Given the description of an element on the screen output the (x, y) to click on. 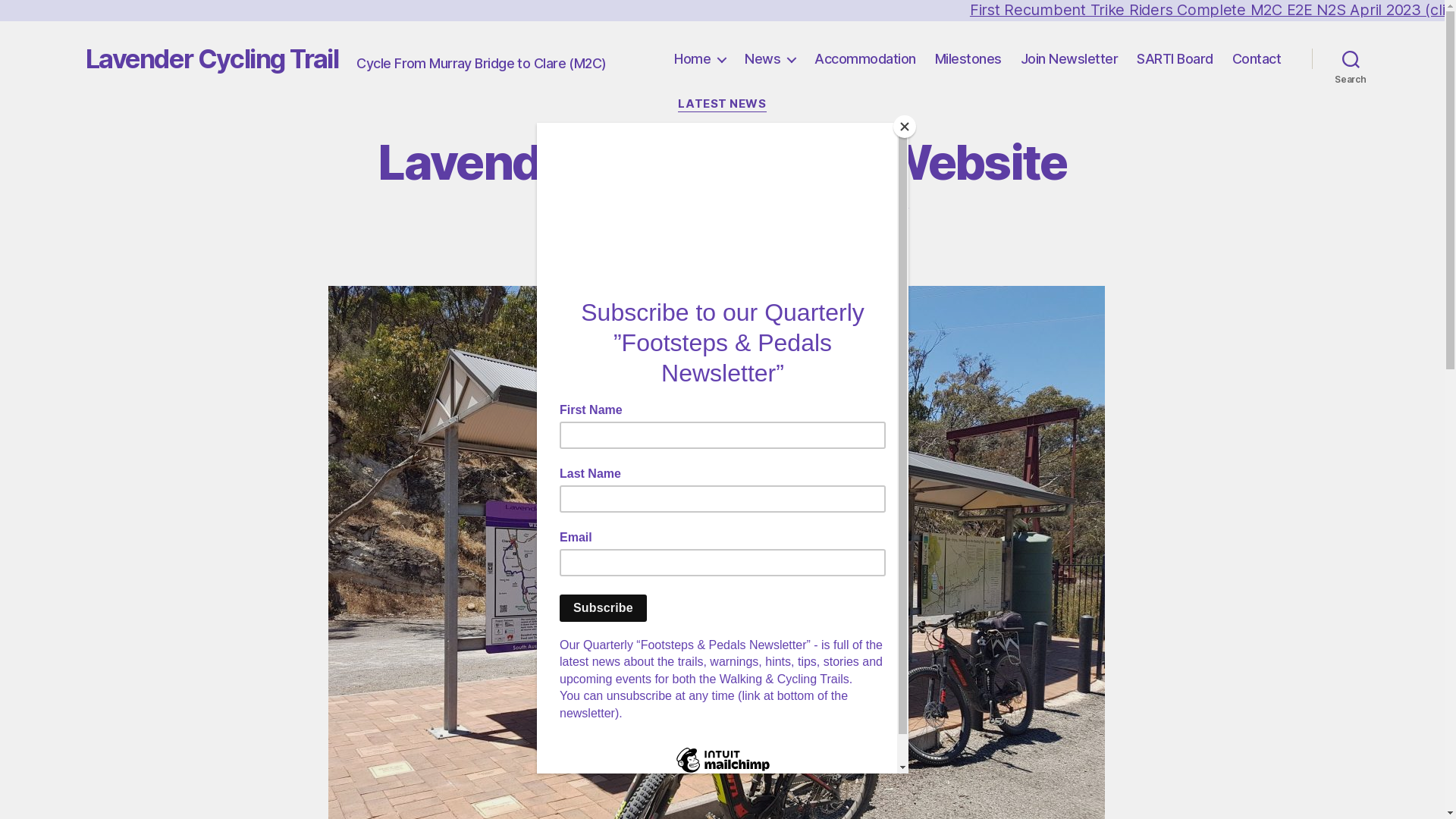
Milestones Element type: text (968, 58)
Peter Element type: text (684, 276)
Search Element type: text (1350, 58)
Accommodation Element type: text (865, 58)
Home Element type: text (699, 58)
SARTI Board Element type: text (1174, 58)
Join Newsletter Element type: text (1069, 58)
Lavender Cycling Trail Element type: text (211, 59)
12/09/2020 Element type: text (777, 276)
News Element type: text (769, 58)
Contact Element type: text (1256, 58)
LATEST NEWS Element type: text (721, 104)
